Given the description of an element on the screen output the (x, y) to click on. 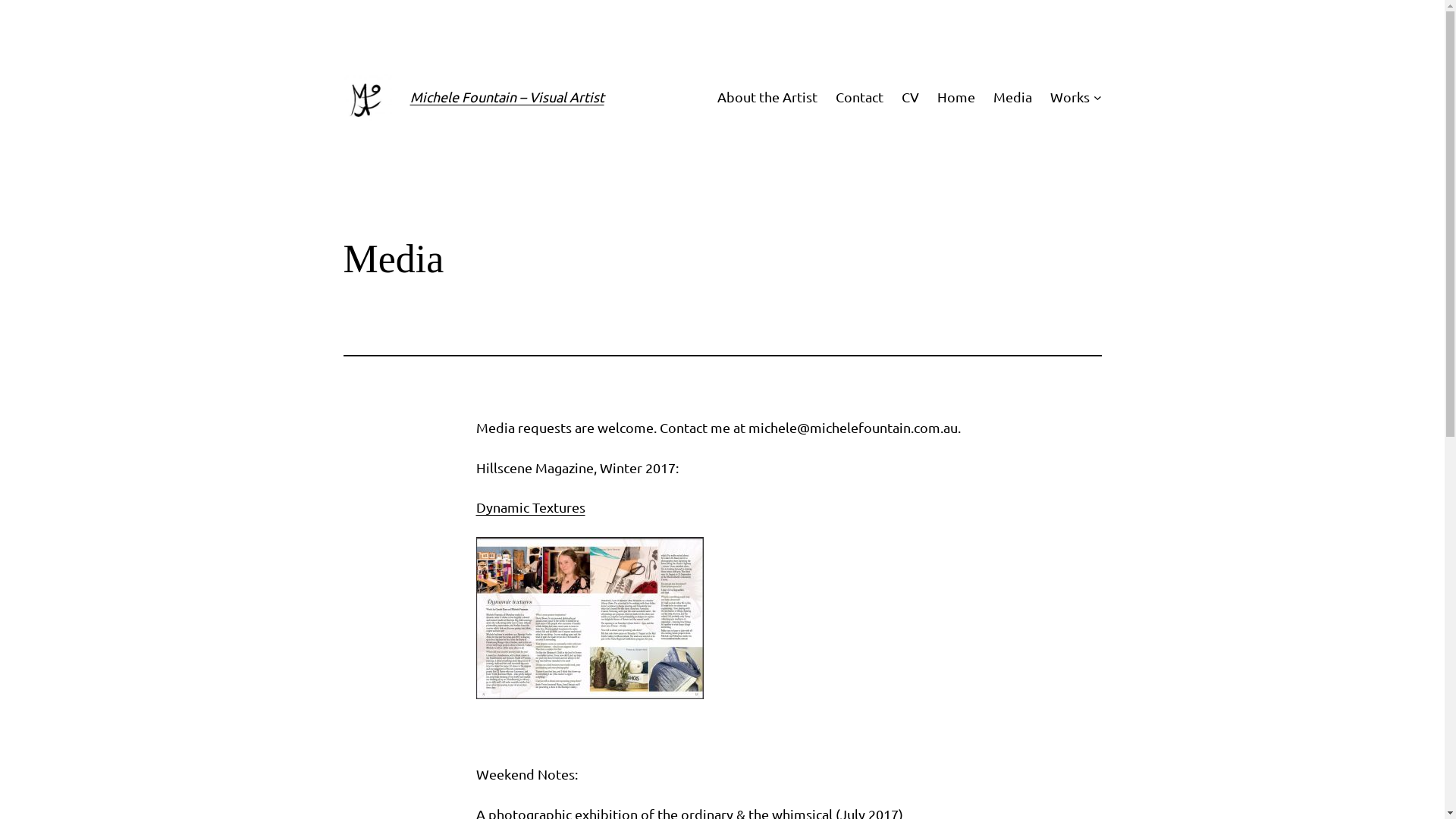
Dynamic Textures Element type: text (530, 506)
Home Element type: text (956, 97)
About the Artist Element type: text (767, 97)
Media Element type: text (1012, 97)
CV Element type: text (910, 97)
Works Element type: text (1069, 97)
Contact Element type: text (859, 97)
